Given the description of an element on the screen output the (x, y) to click on. 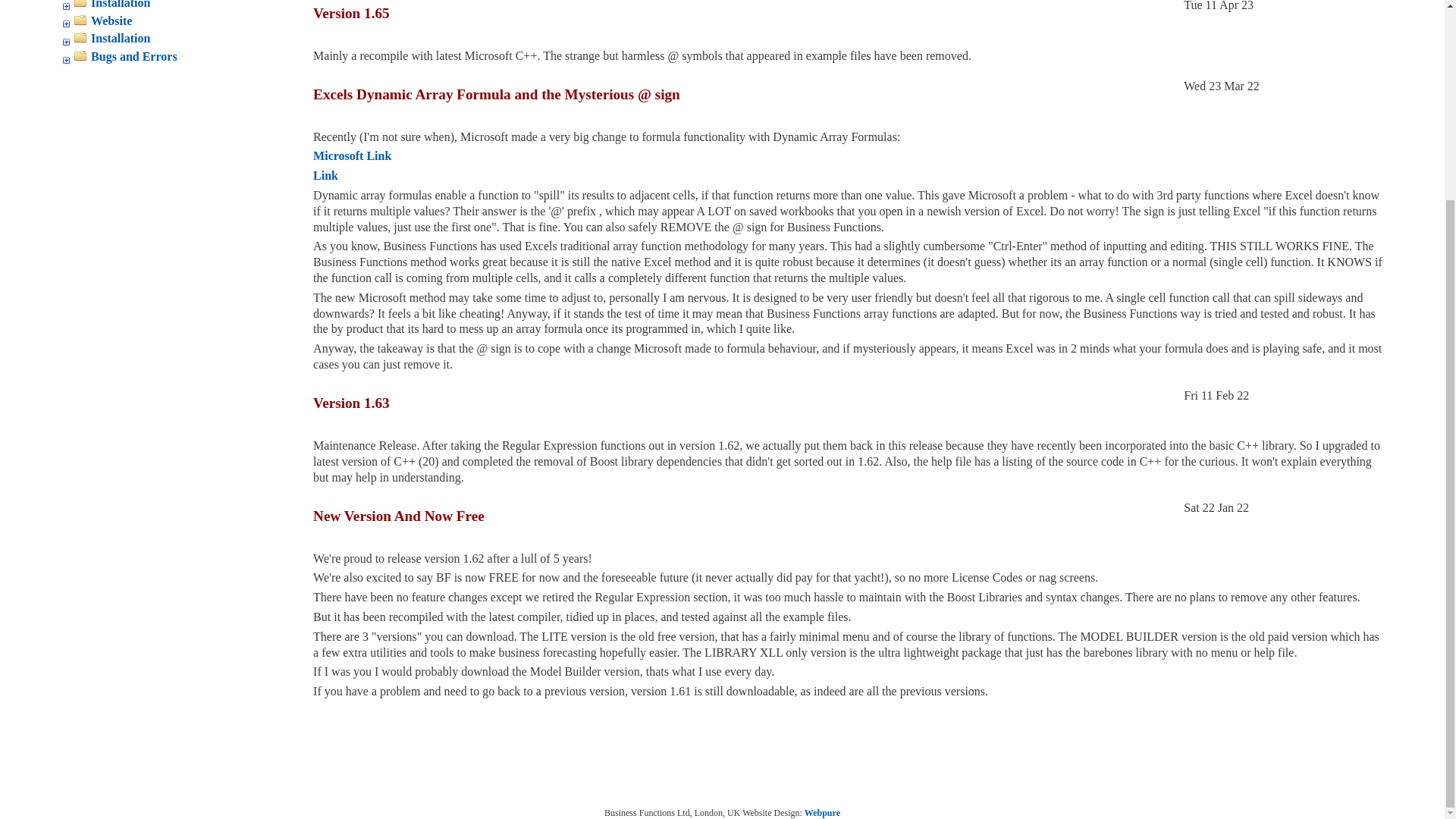
Bugs and Errors (175, 57)
Link (325, 174)
Microsoft Link (352, 155)
Installation (175, 38)
Installation (175, 5)
Website (175, 20)
